Given the description of an element on the screen output the (x, y) to click on. 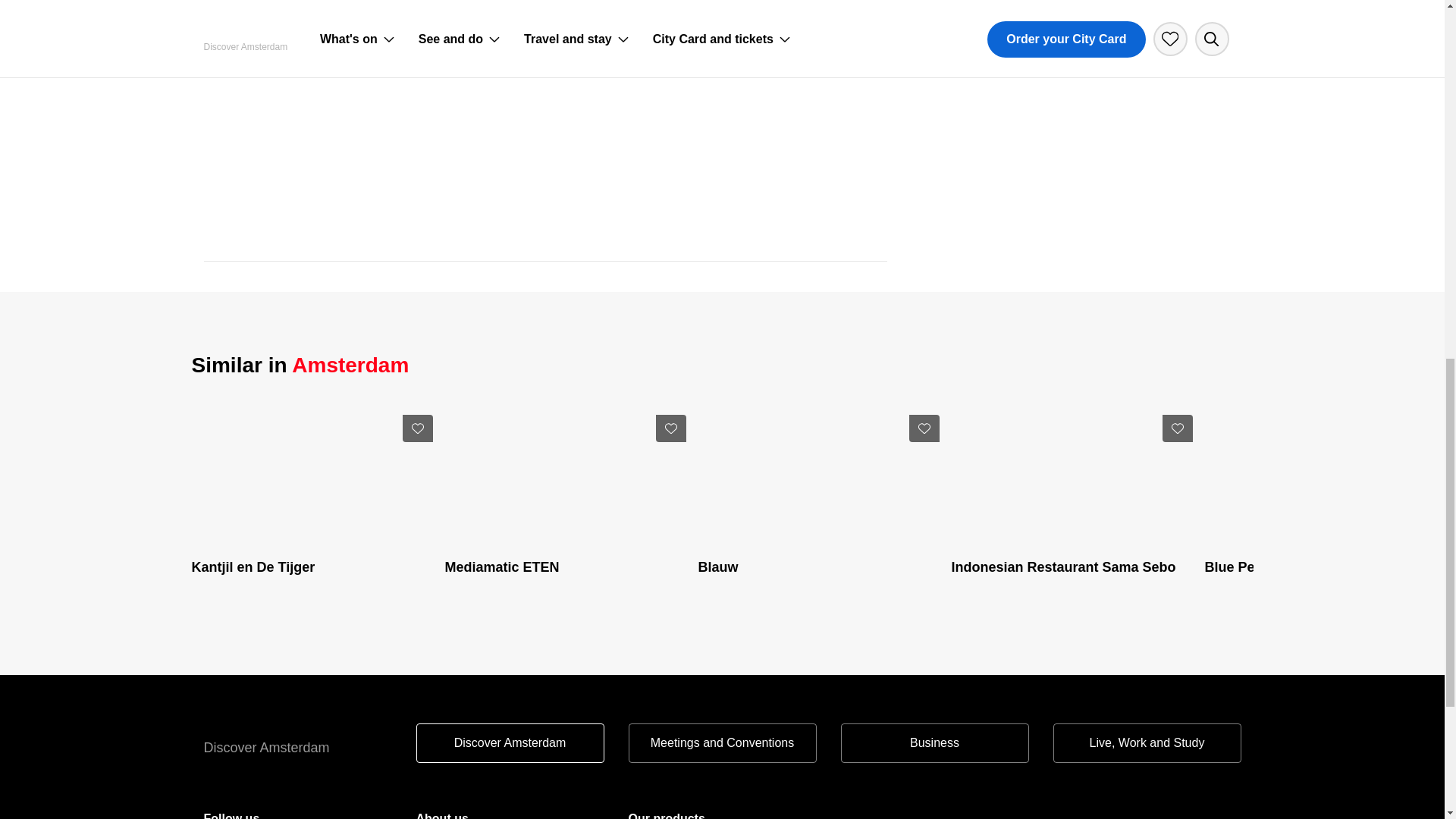
Add to favourites (923, 428)
Add to favourites (670, 428)
Add to favourites (1176, 428)
Add to favourites (416, 428)
